Given the description of an element on the screen output the (x, y) to click on. 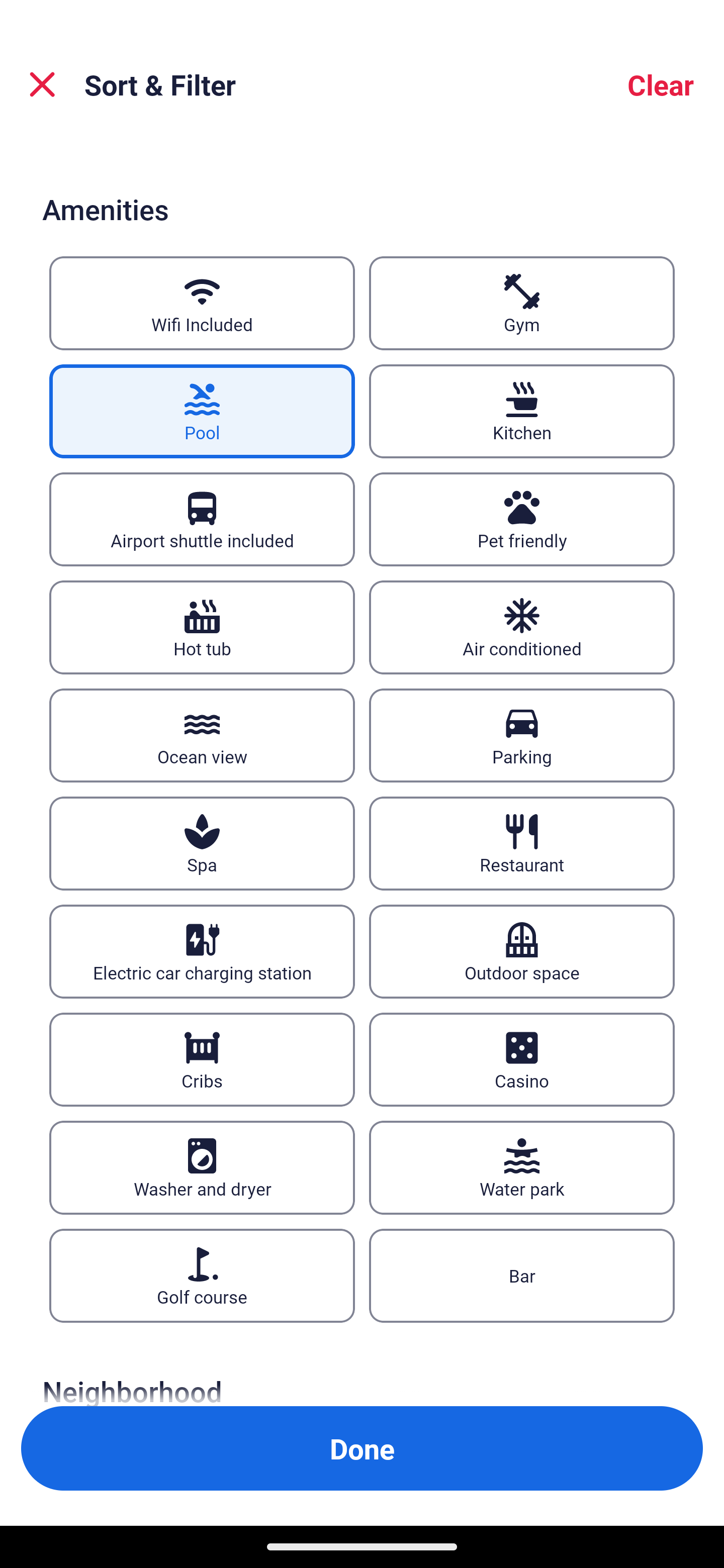
Close Sort and Filter (42, 84)
Clear (660, 84)
Wifi Included (201, 302)
Gym (521, 302)
Pool (201, 410)
Kitchen (521, 410)
Airport shuttle included (201, 518)
Pet friendly (521, 518)
Hot tub (201, 627)
Air conditioned (521, 627)
Ocean view (201, 735)
Parking (521, 735)
Spa (201, 843)
Restaurant (521, 843)
Electric car charging station (201, 951)
Outdoor space (521, 951)
Cribs (201, 1059)
Casino (521, 1059)
Washer and dryer (201, 1168)
Water park (521, 1168)
Golf course (201, 1276)
Bar (521, 1276)
Apply and close Sort and Filter Done (361, 1448)
